Given the description of an element on the screen output the (x, y) to click on. 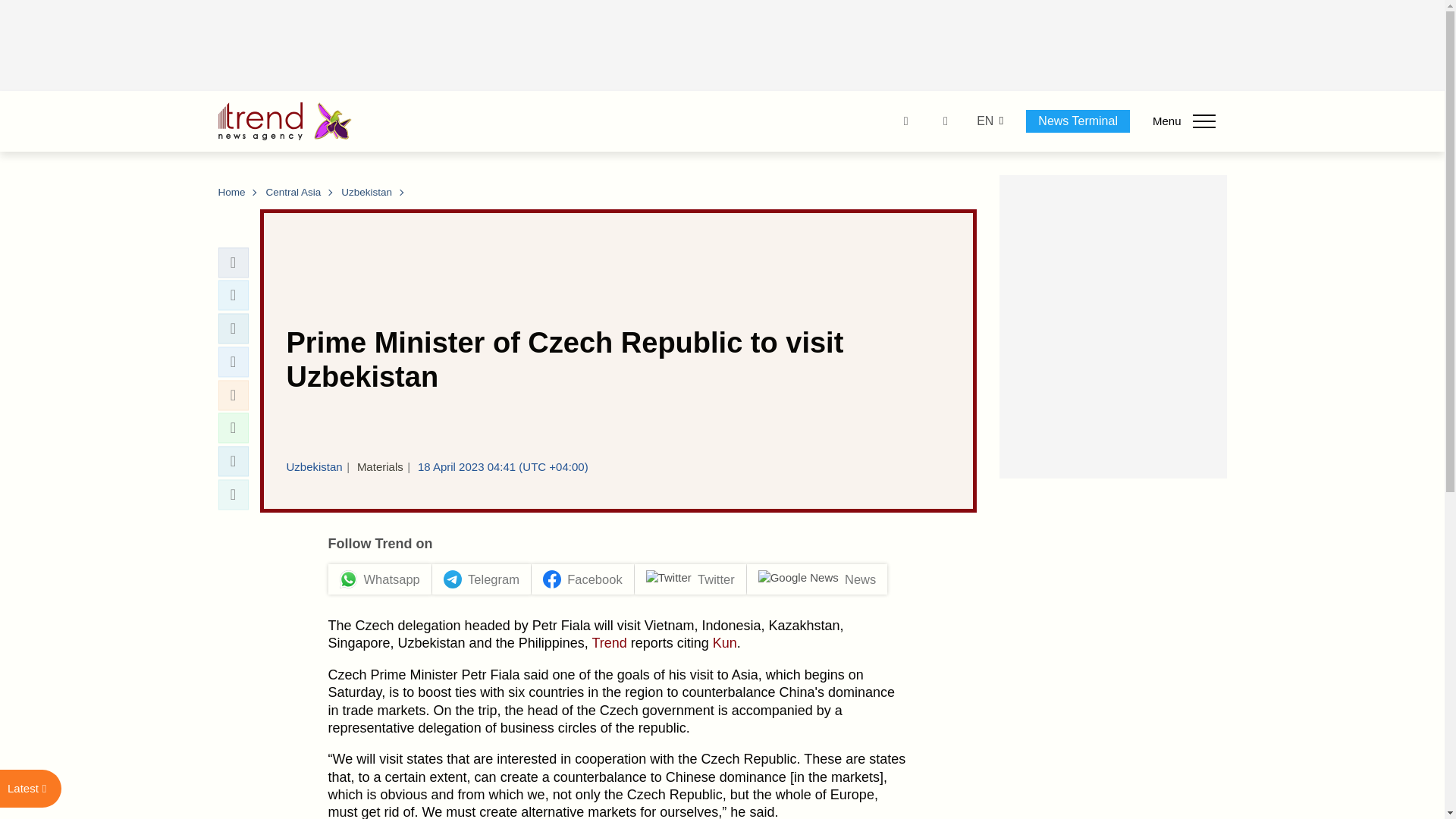
English (984, 121)
News Terminal (1077, 120)
EN (984, 121)
